Given the description of an element on the screen output the (x, y) to click on. 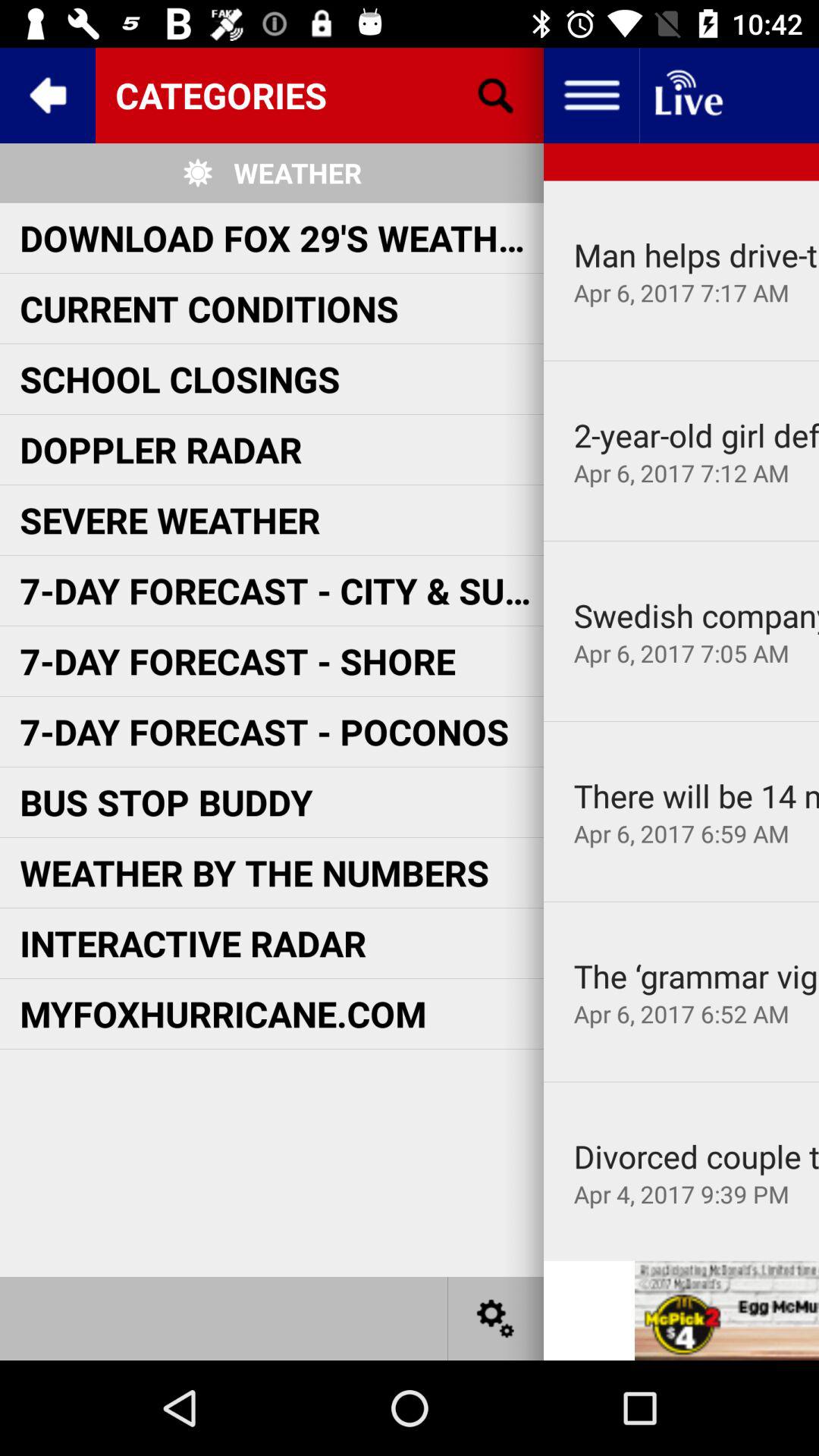
press item above the doppler radar (179, 378)
